Given the description of an element on the screen output the (x, y) to click on. 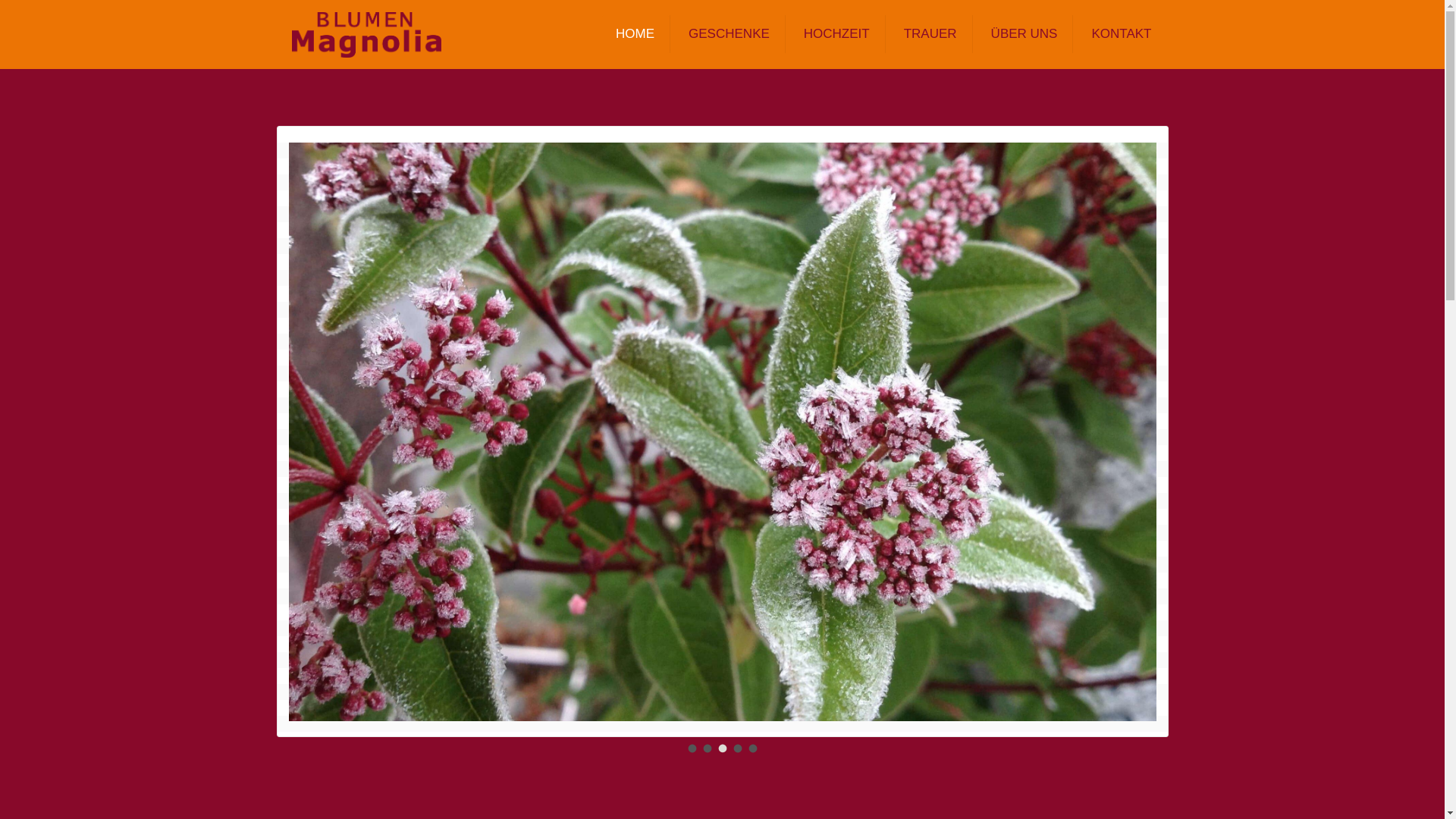
GESCHENKE Element type: text (729, 34)
HOCHZEIT Element type: text (836, 34)
Blumen Magnolia Element type: hover (365, 34)
TRAUER Element type: text (930, 34)
HOME Element type: text (635, 34)
KONTAKT Element type: text (1121, 34)
